Given the description of an element on the screen output the (x, y) to click on. 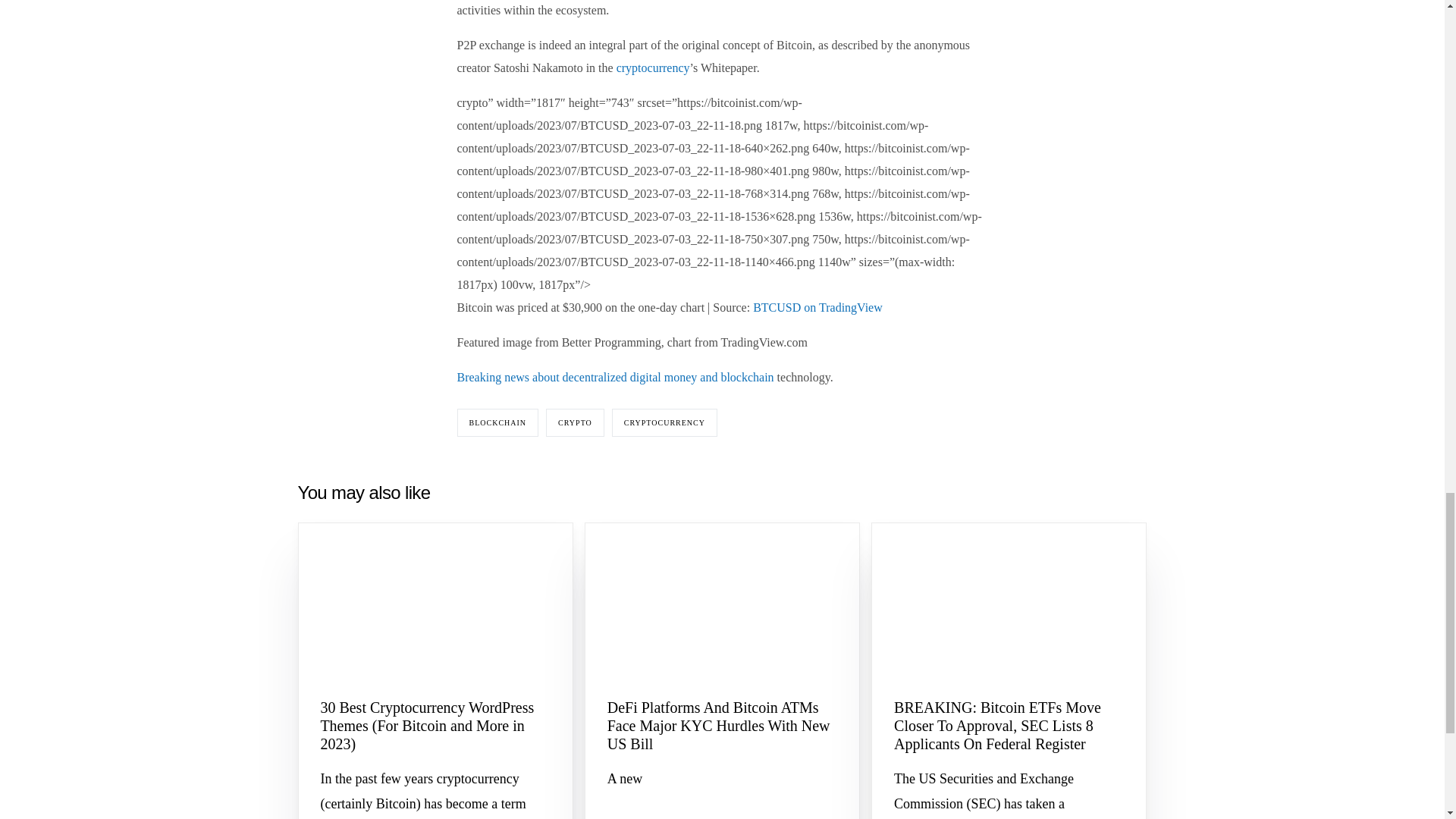
cryptocurrency (652, 67)
